Given the description of an element on the screen output the (x, y) to click on. 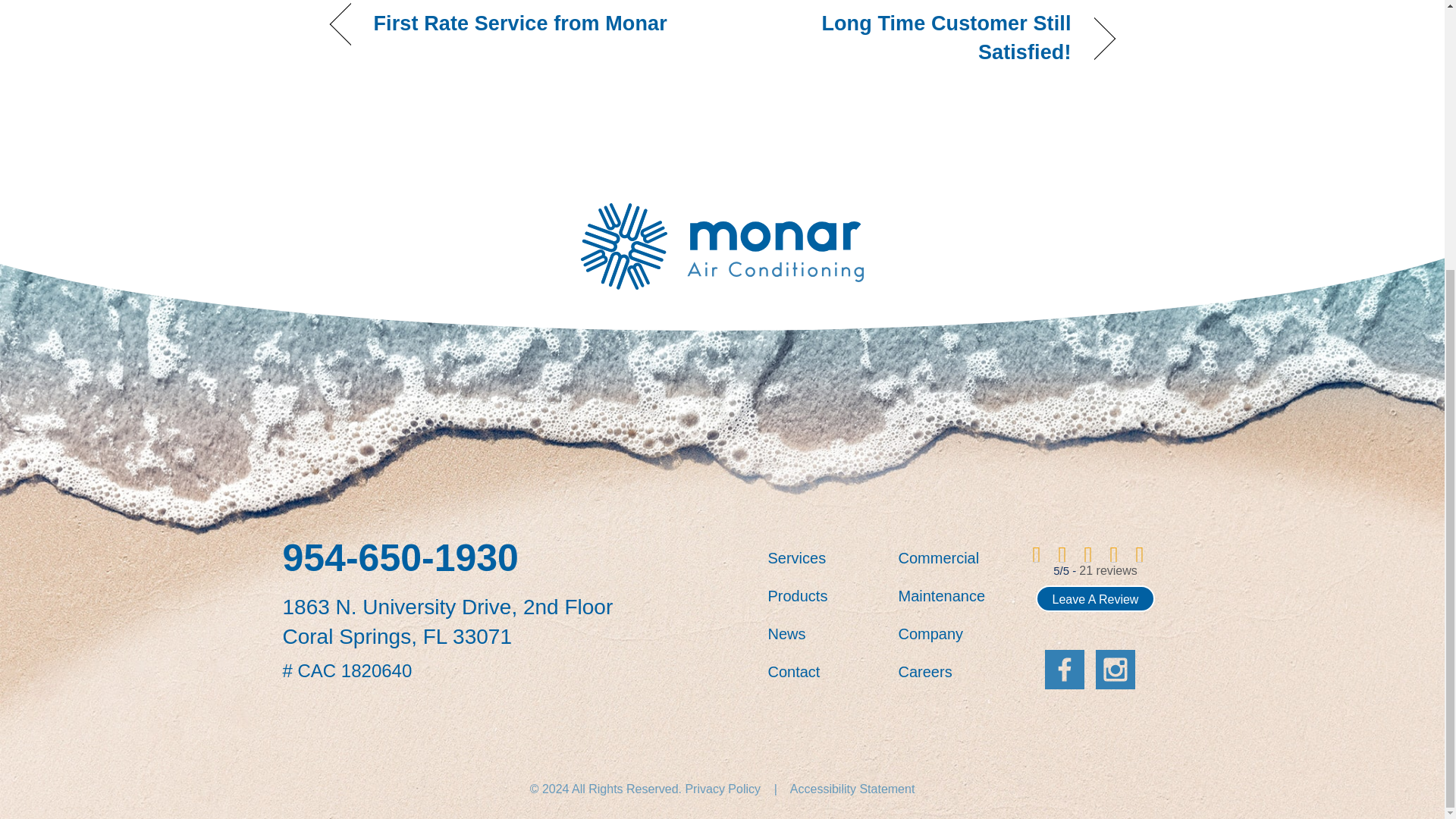
MAI Logo-RGB (721, 246)
